Given the description of an element on the screen output the (x, y) to click on. 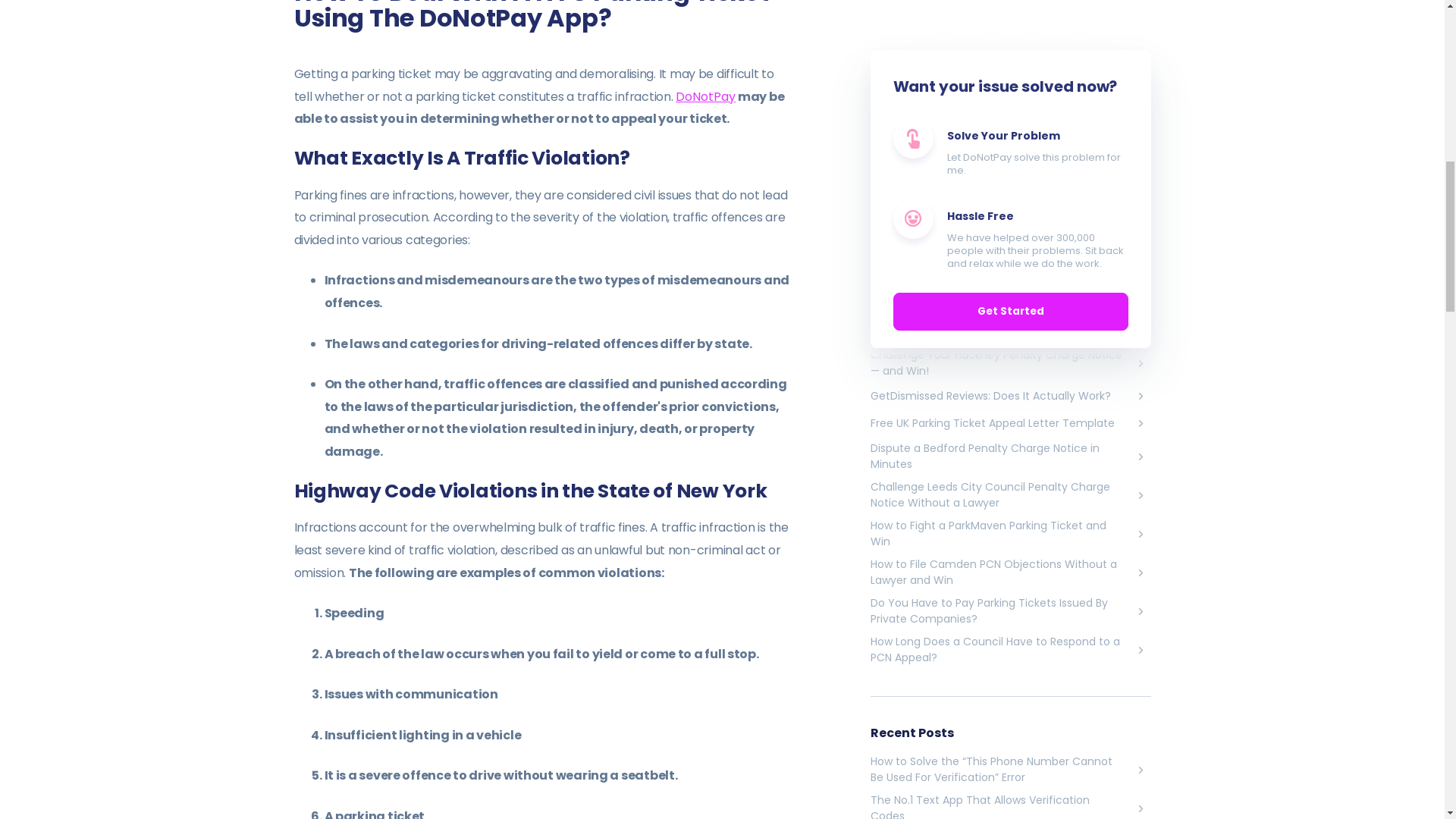
Contest Parking Infractions in Los Angeles, CA (1010, 109)
Contest California Parking Tickets (1010, 82)
Contest Parking Citations in Chicago, IL (1010, 136)
DoNotPay (705, 96)
